Given the description of an element on the screen output the (x, y) to click on. 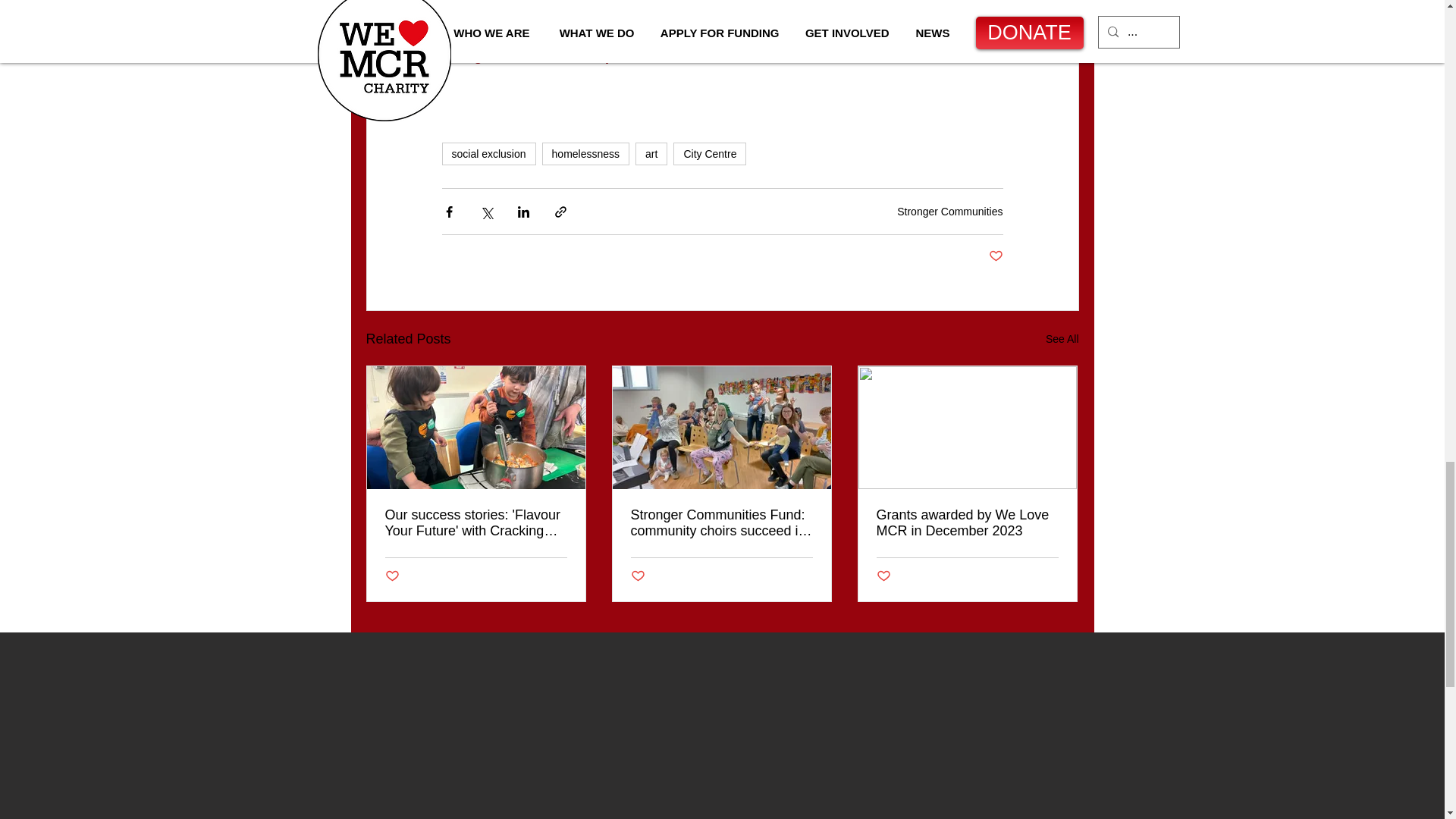
Post not marked as liked (391, 576)
See All (1061, 339)
mcrstreetpoem.com (594, 14)
social exclusion (488, 153)
art (650, 153)
Grants awarded by We Love MCR in December 2023 (967, 522)
Post not marked as liked (995, 256)
City Centre (708, 153)
Post not marked as liked (883, 576)
Stronger Communities (949, 211)
homelessness (585, 153)
Post not marked as liked (637, 576)
